Given the description of an element on the screen output the (x, y) to click on. 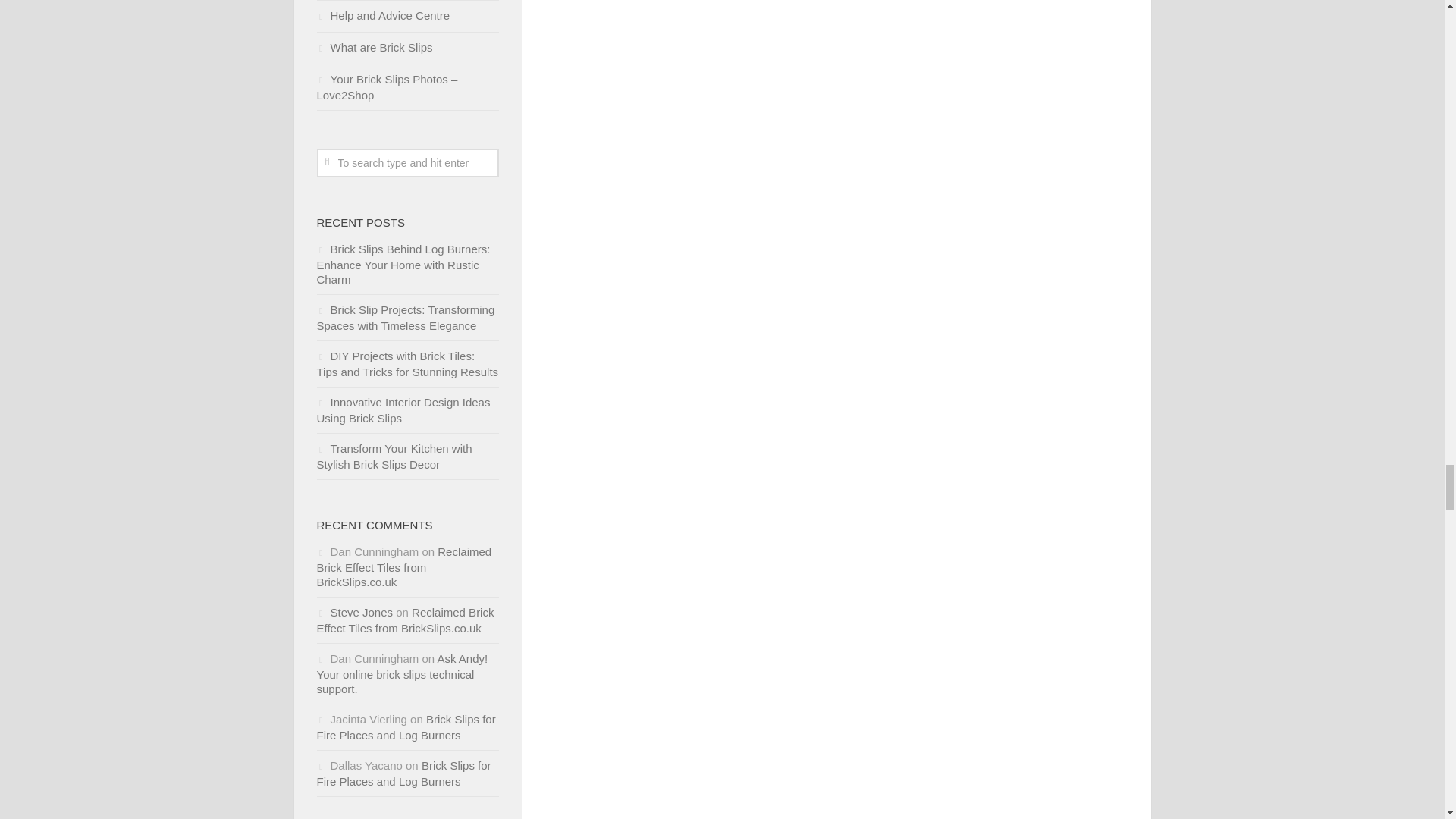
To search type and hit enter (408, 162)
To search type and hit enter (408, 162)
